Given the description of an element on the screen output the (x, y) to click on. 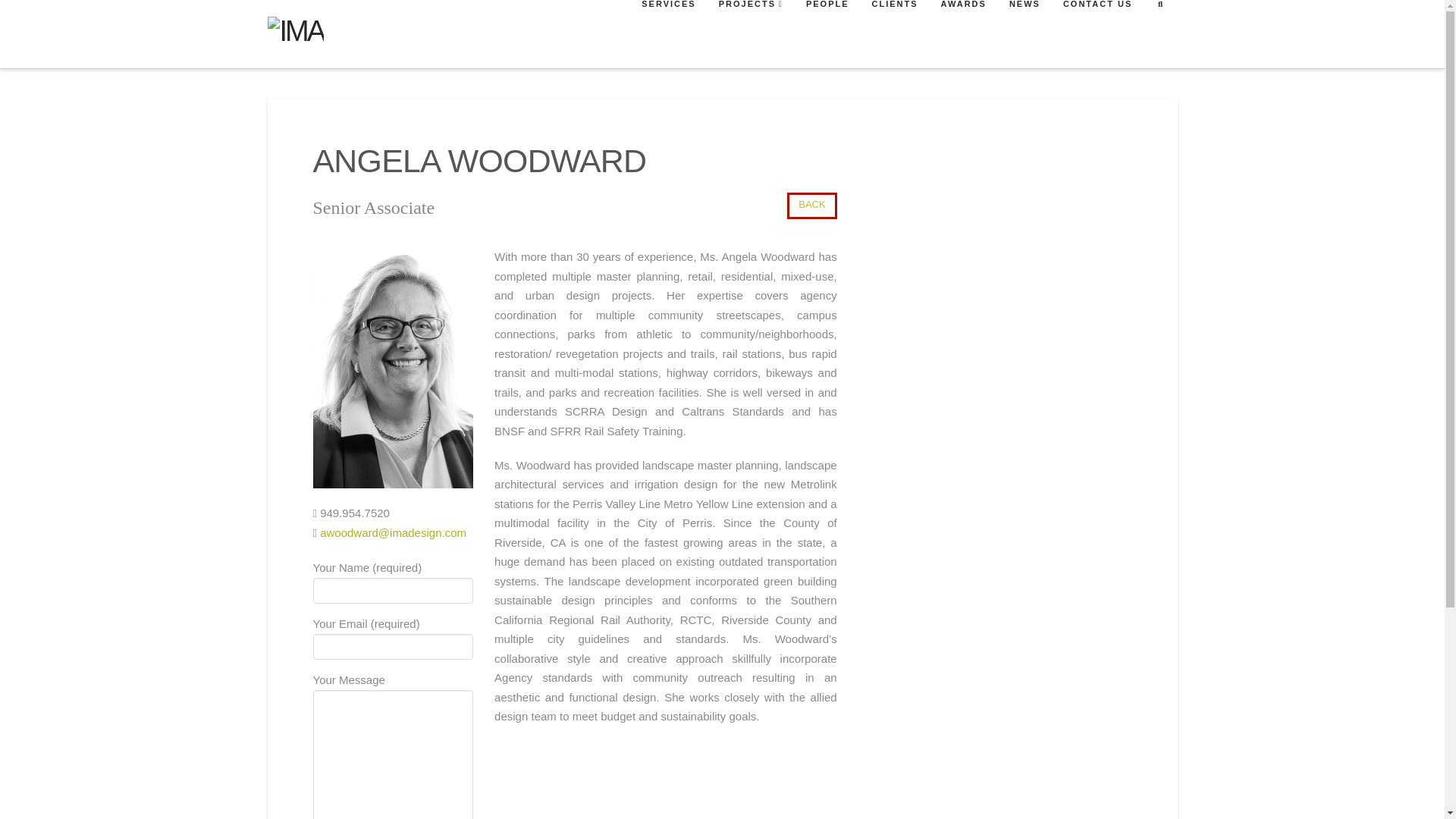
CONTACT US (1096, 33)
CLIENTS (894, 33)
PROJECTS (749, 33)
BACK (811, 205)
PEOPLE (826, 33)
AWARDS (962, 33)
SERVICES (667, 33)
